Given the description of an element on the screen output the (x, y) to click on. 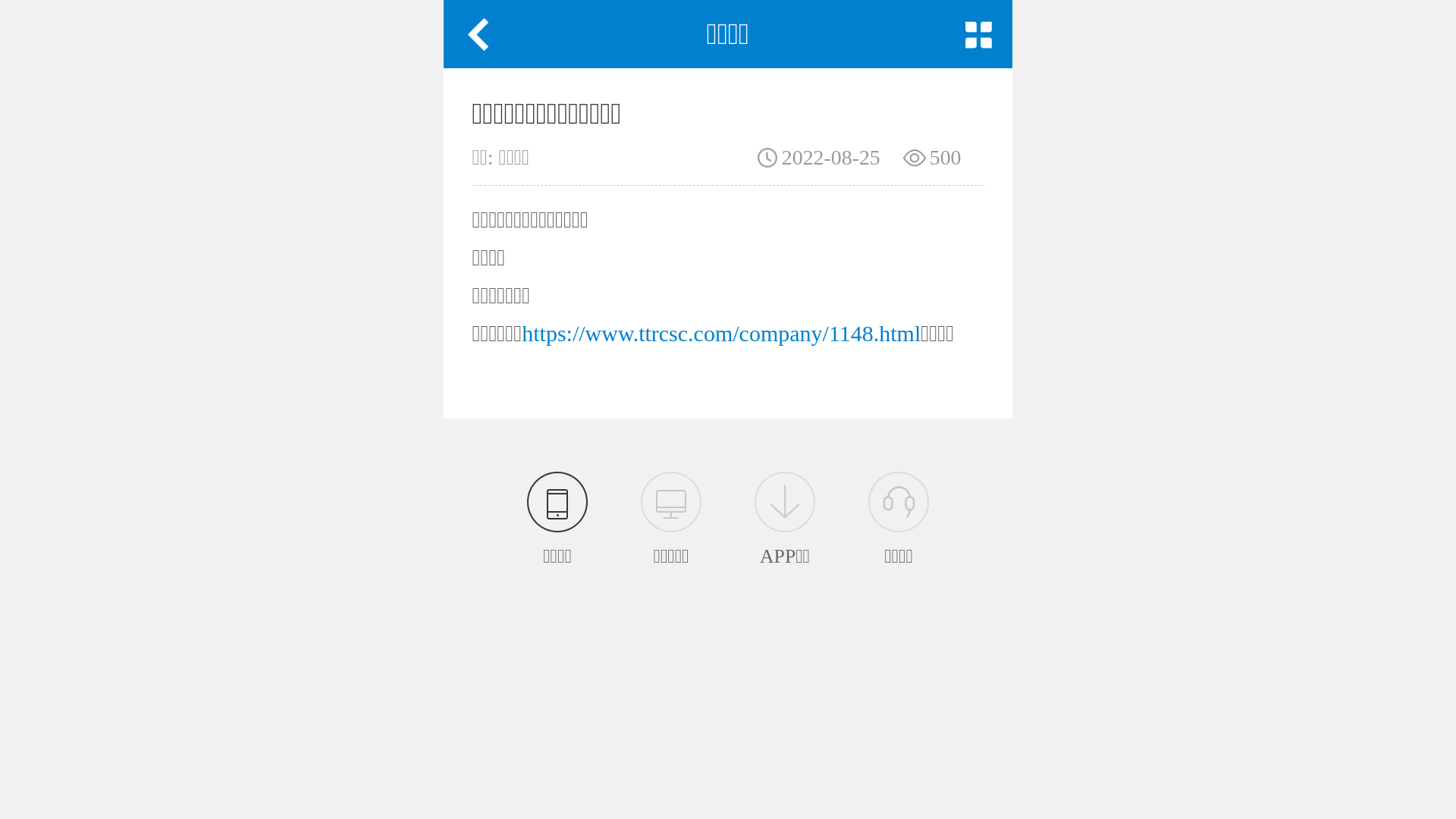
https://www.ttrcsc.com/company/1148.html Element type: text (720, 332)
